Given the description of an element on the screen output the (x, y) to click on. 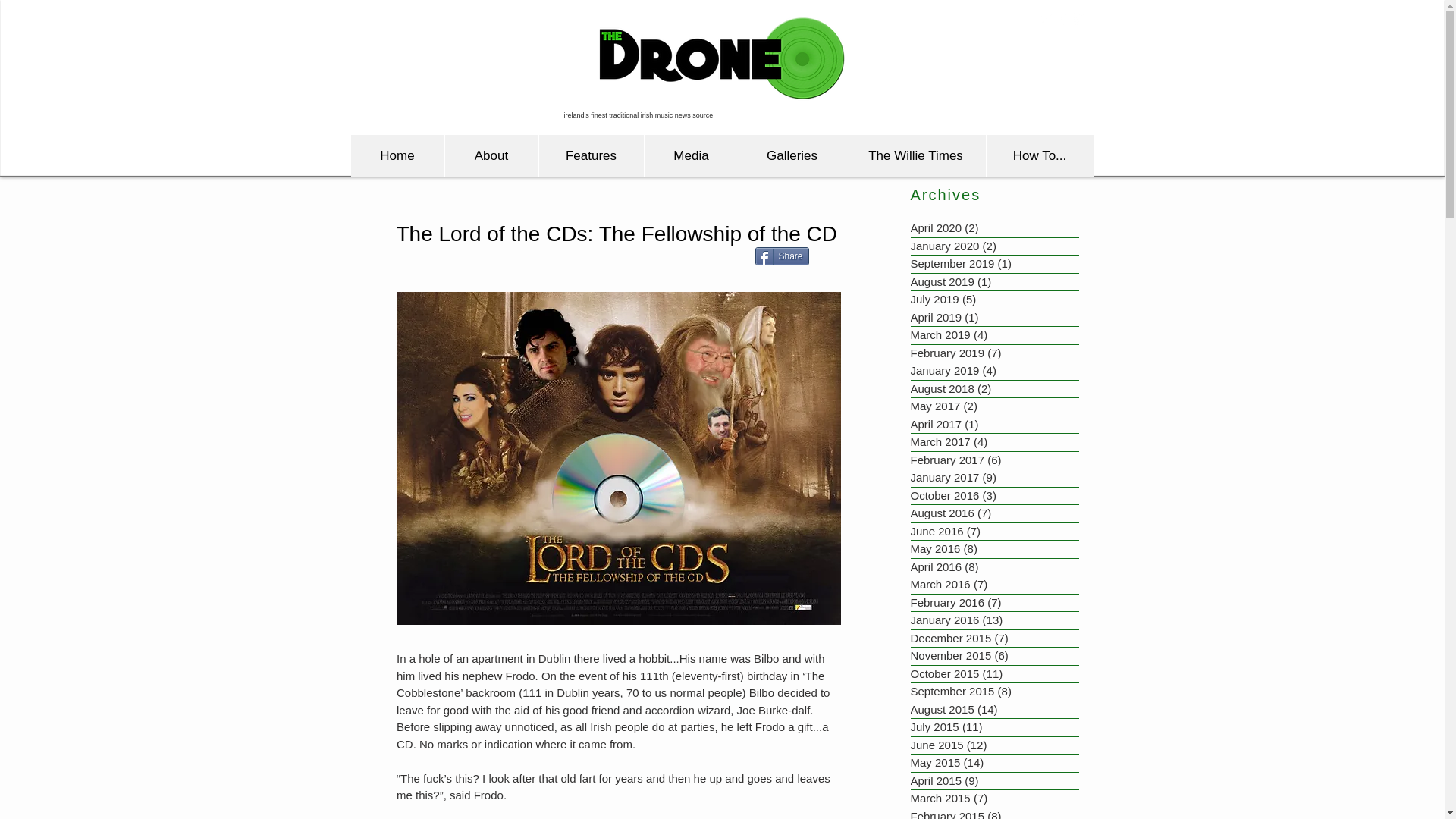
Galleries (791, 155)
How To... (1039, 155)
Features (590, 155)
The Willie Times (914, 155)
Share (782, 256)
Home (397, 155)
Twitter Follow (1004, 122)
Facebook Like (1004, 106)
Twitter Tweet (844, 257)
Media (690, 155)
About (491, 155)
Share (782, 256)
